Given the description of an element on the screen output the (x, y) to click on. 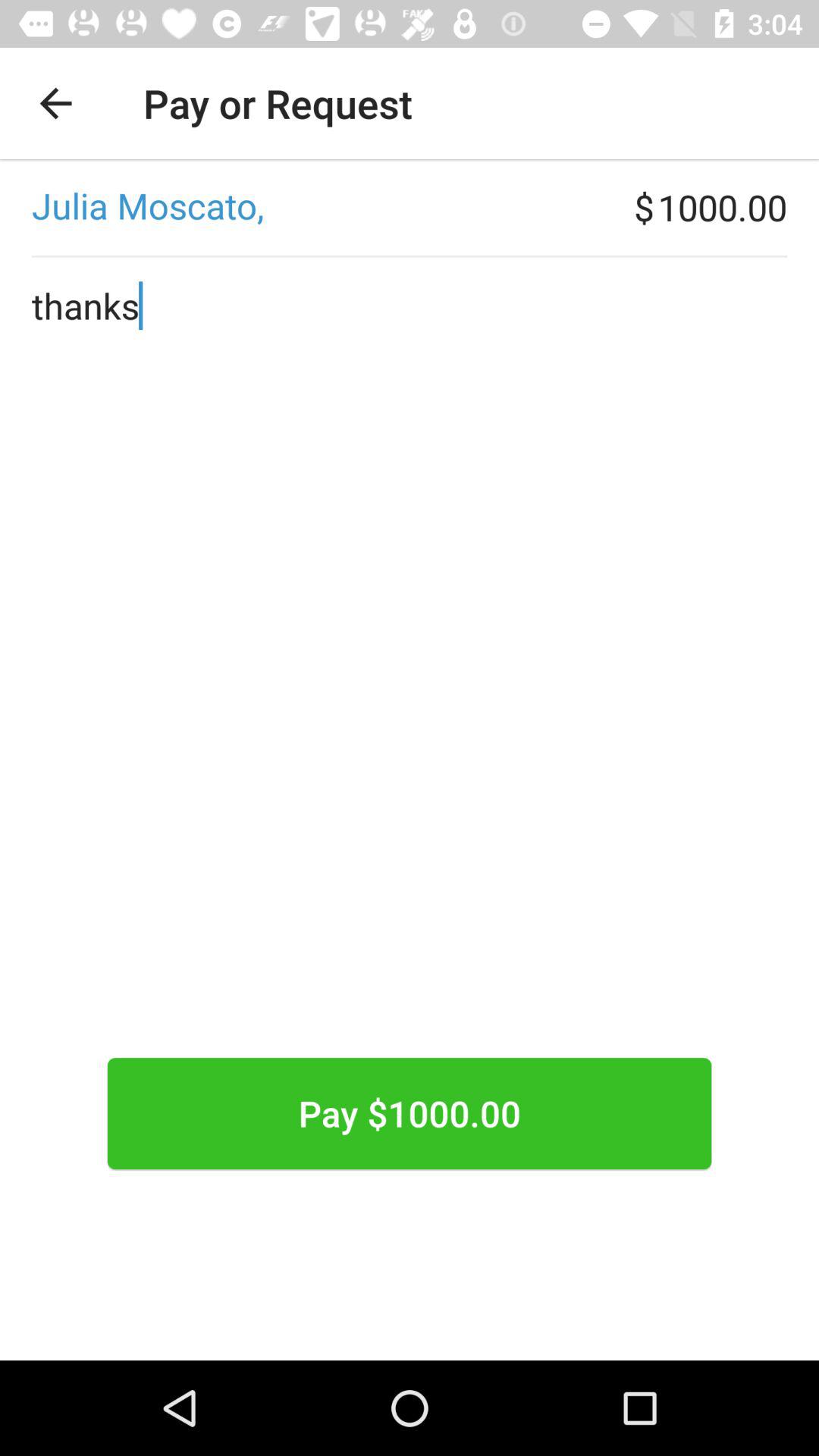
press the app next to the pay or request icon (55, 103)
